Given the description of an element on the screen output the (x, y) to click on. 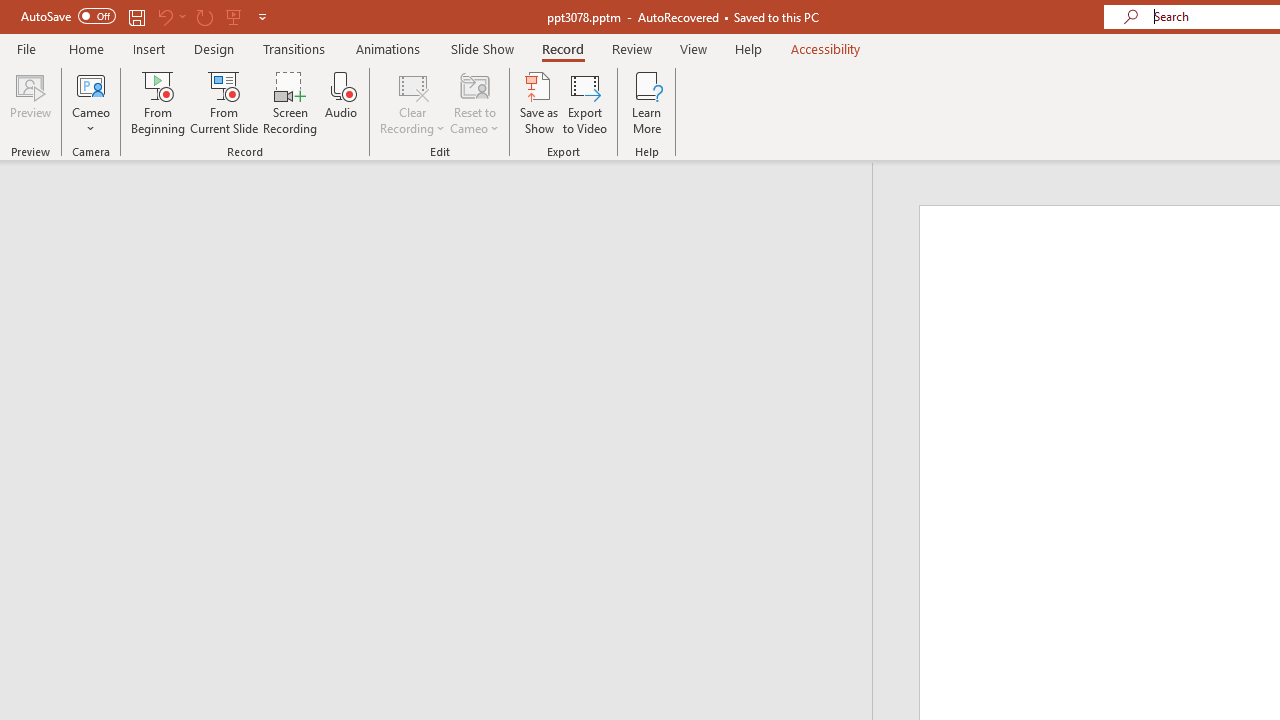
Clear Recording (412, 102)
Learn More (646, 102)
Export to Video (585, 102)
Save as Show (539, 102)
Outline (445, 202)
From Beginning... (158, 102)
